Given the description of an element on the screen output the (x, y) to click on. 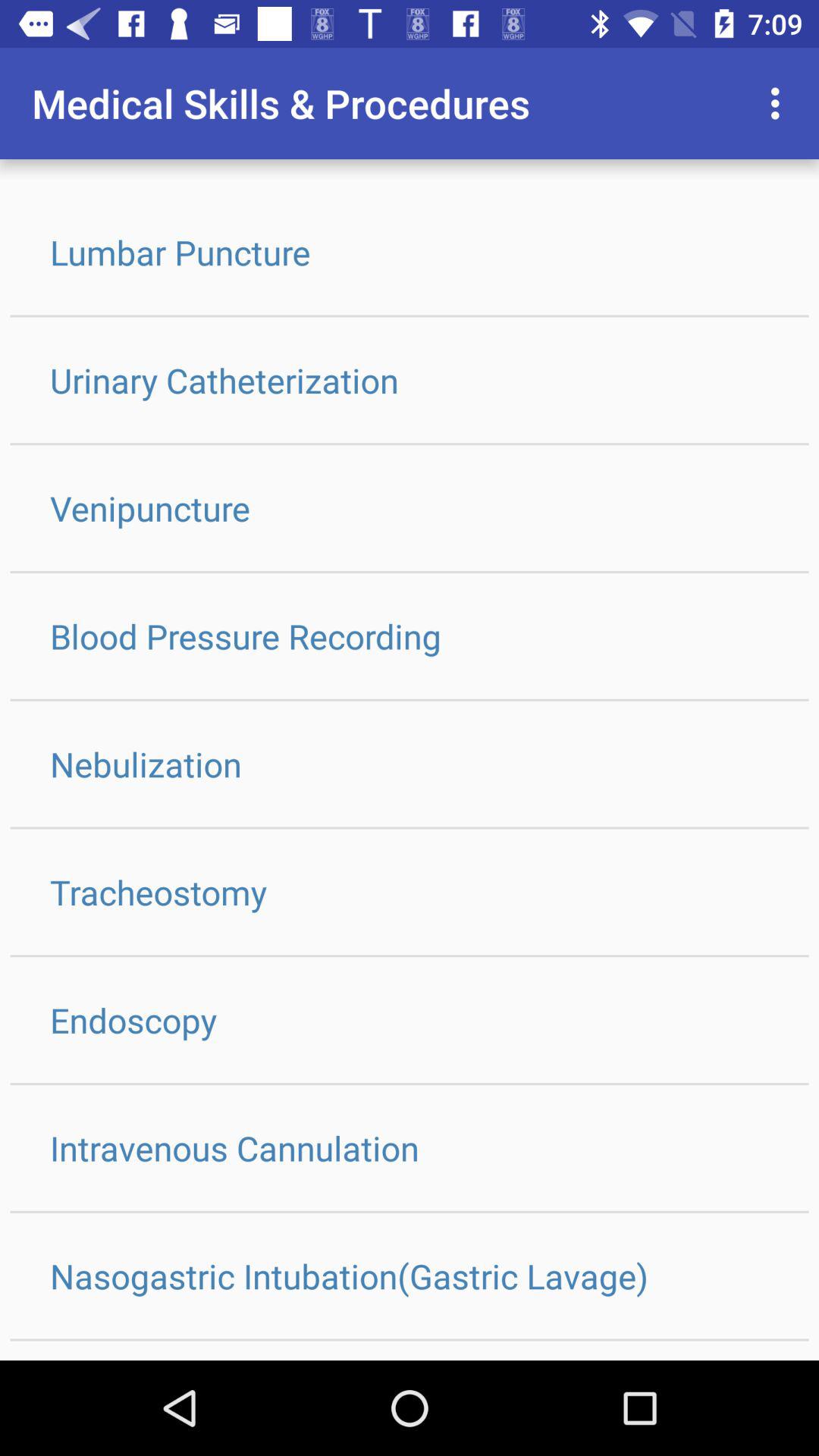
turn on the item below the lumbar puncture item (409, 380)
